Given the description of an element on the screen output the (x, y) to click on. 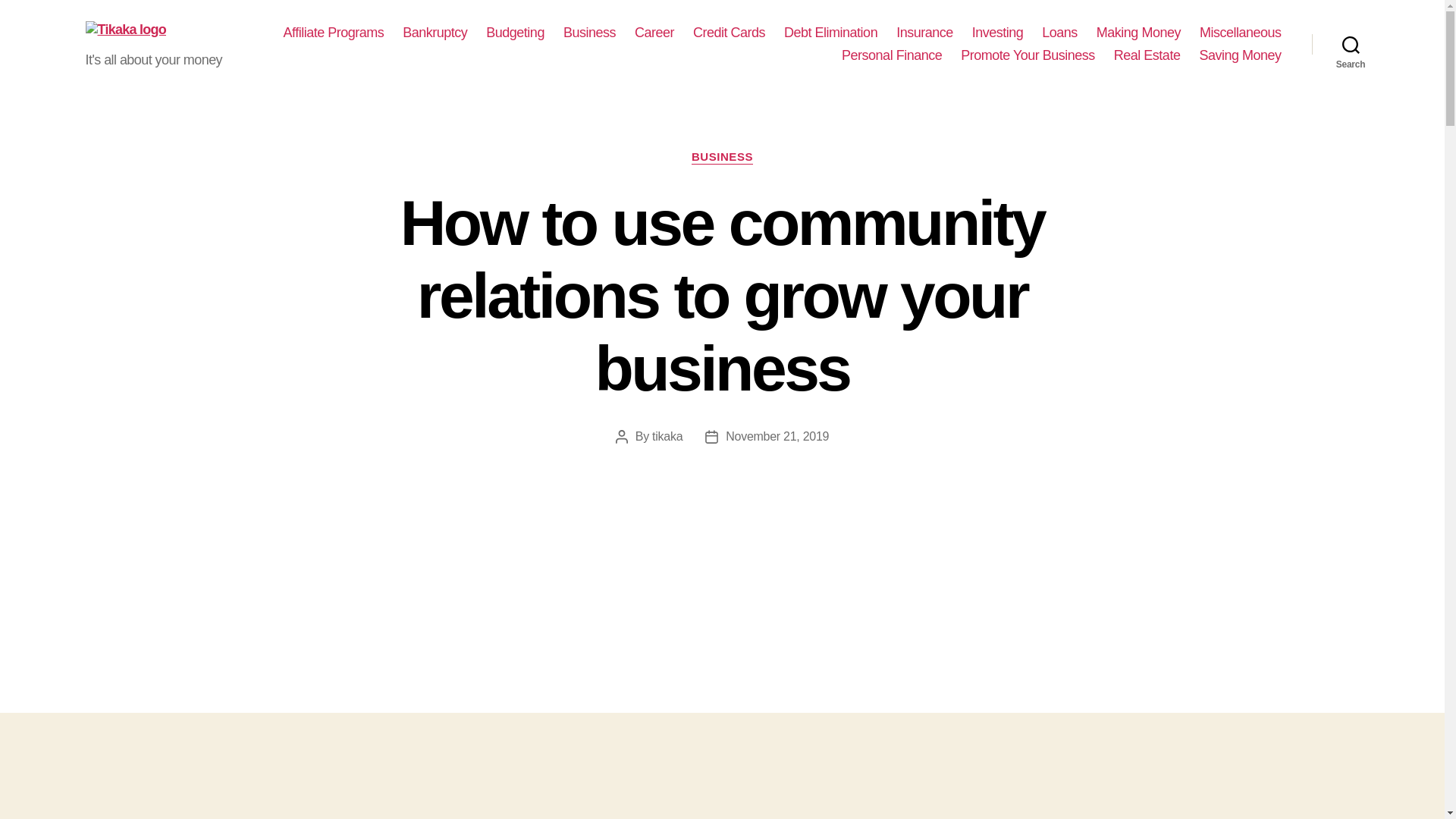
Investing (997, 33)
Loans (1059, 33)
Business (589, 33)
Search (1350, 44)
Bankruptcy (435, 33)
Saving Money (1239, 55)
Career (654, 33)
Real Estate (1146, 55)
Making Money (1138, 33)
Budgeting (515, 33)
